Given the description of an element on the screen output the (x, y) to click on. 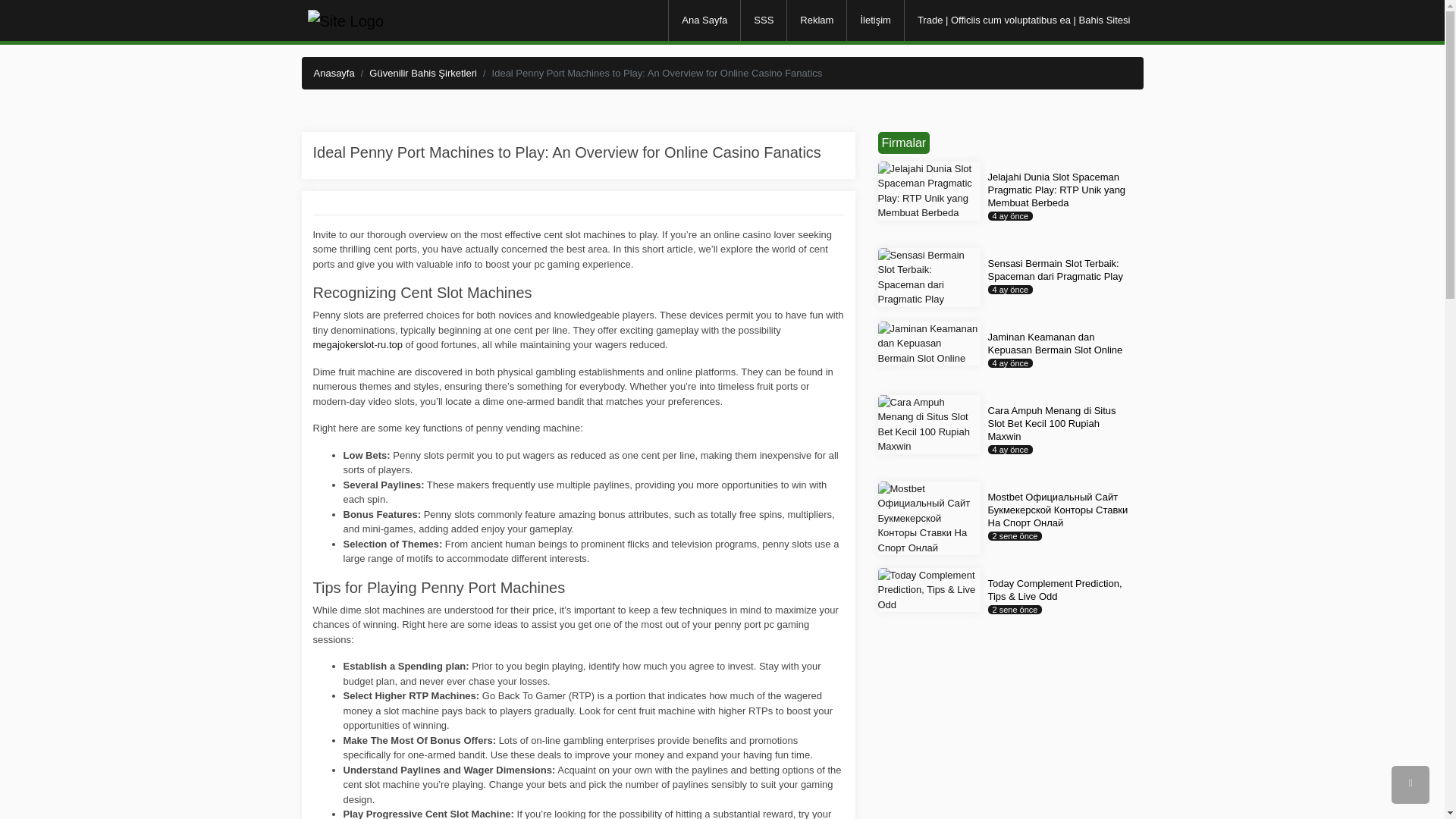
Ana Sayfa (703, 20)
Bahis Sitesi (345, 20)
megajokerslot-ru.top (358, 344)
SSS (763, 20)
Anasayfa (334, 71)
Reklam (816, 20)
